Given the description of an element on the screen output the (x, y) to click on. 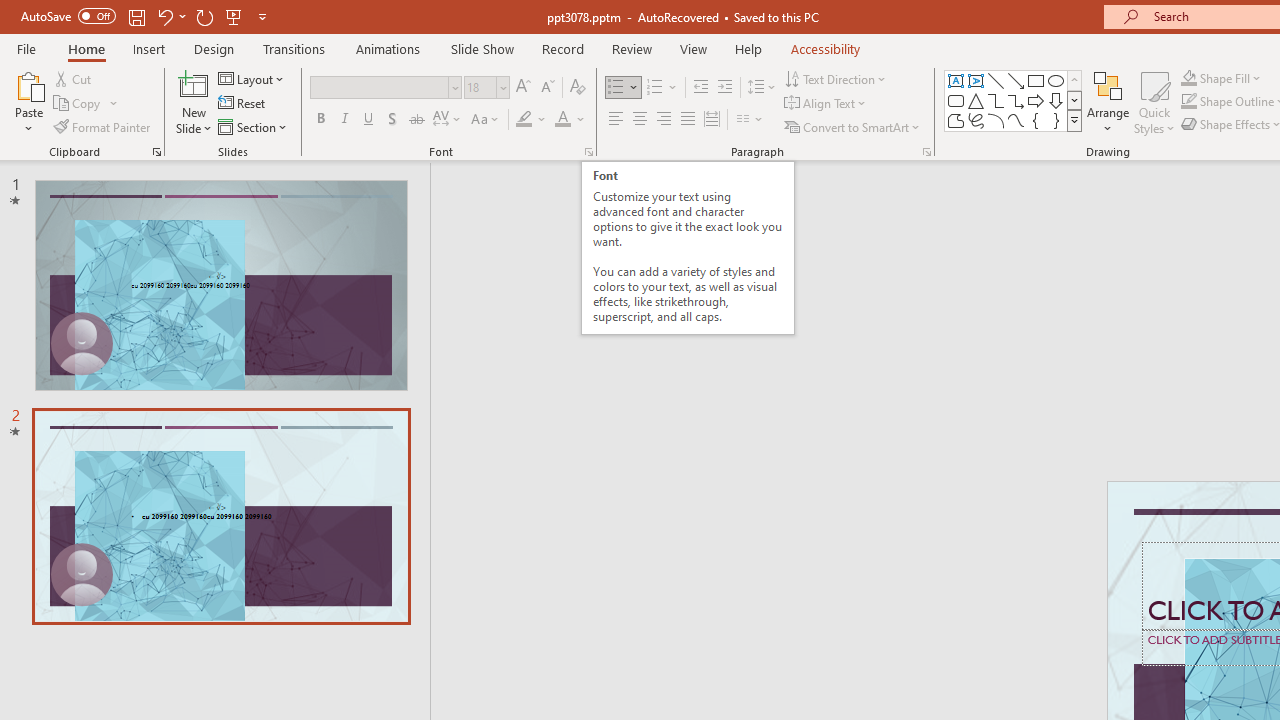
Increase Font Size (522, 87)
Help (748, 48)
Strikethrough (416, 119)
File Tab (26, 48)
Paste (28, 84)
Accessibility (825, 48)
Paragraph... (926, 151)
Home (86, 48)
Right Brace (1055, 120)
Slide Show (481, 48)
Review (631, 48)
Text Direction (836, 78)
Justify (687, 119)
From Beginning (234, 15)
Isosceles Triangle (975, 100)
